Given the description of an element on the screen output the (x, y) to click on. 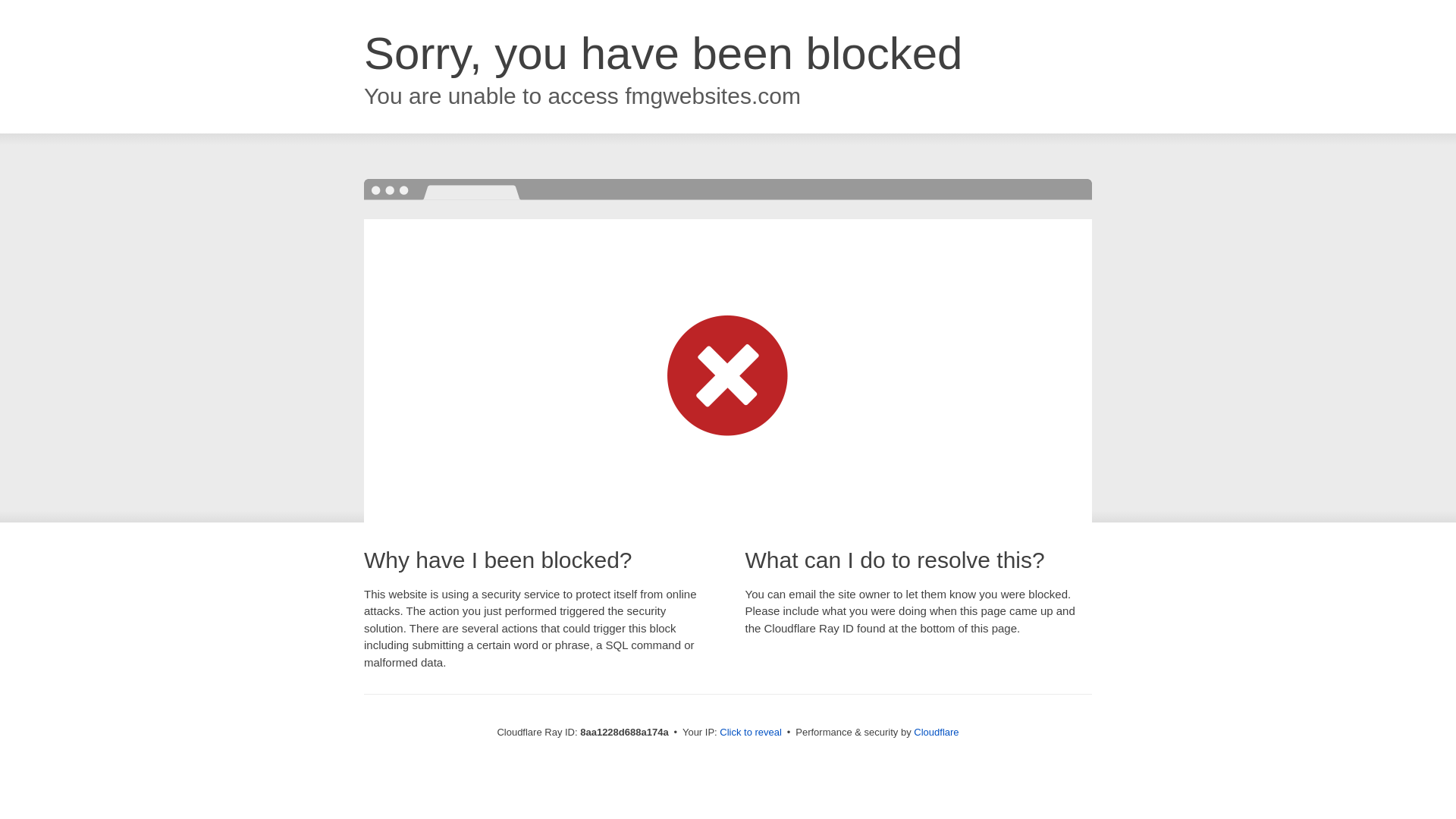
Cloudflare (936, 731)
Click to reveal (750, 732)
